Given the description of an element on the screen output the (x, y) to click on. 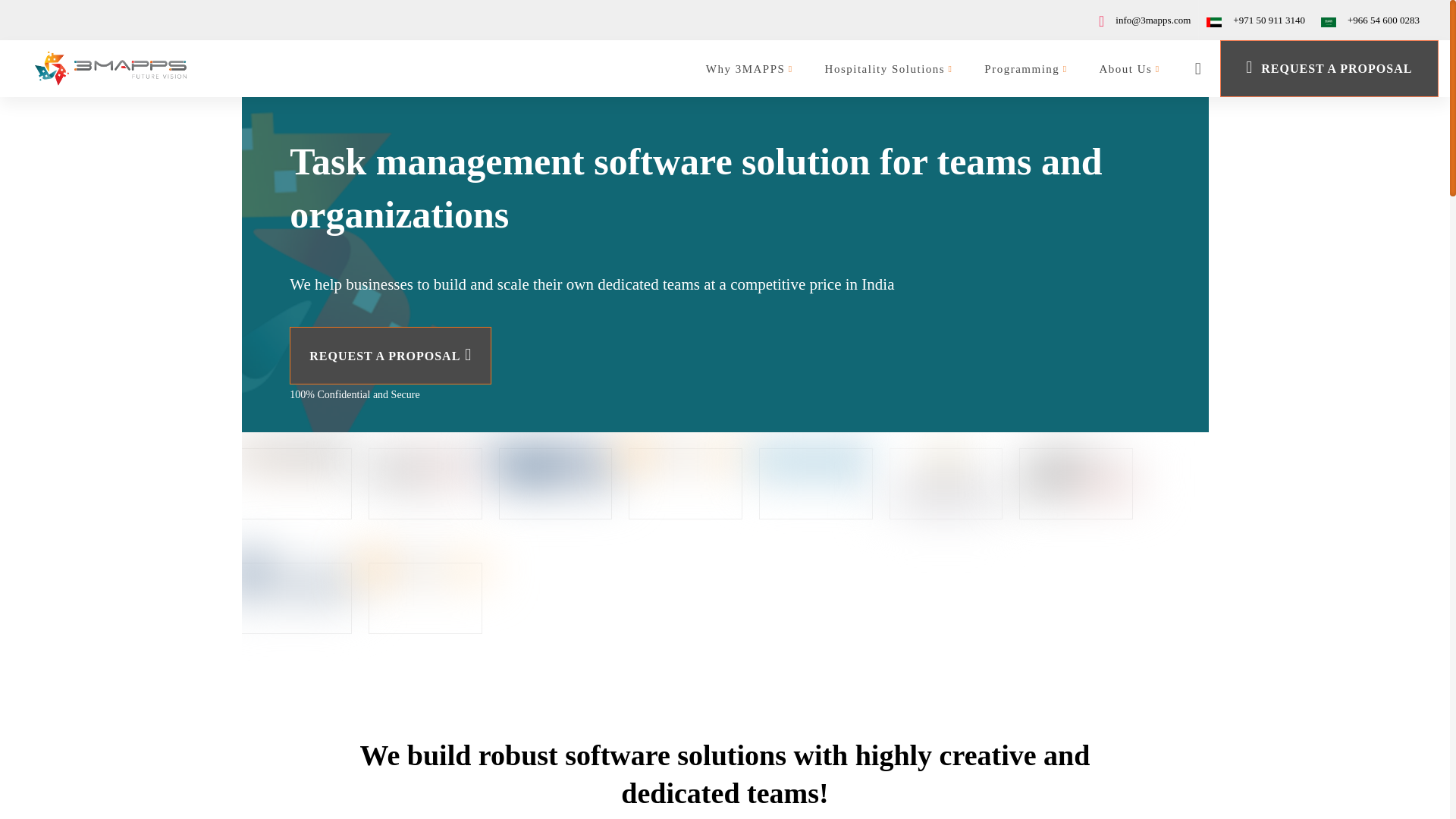
Request a Proposal (390, 355)
Hospitality Solutions (889, 68)
About Us (1129, 68)
Why 3MAPPS (749, 68)
Request a Proposal (1329, 68)
Programming (1025, 68)
REQUEST A PROPOSAL (1329, 68)
REQUEST A PROPOSAL (390, 355)
